Given the description of an element on the screen output the (x, y) to click on. 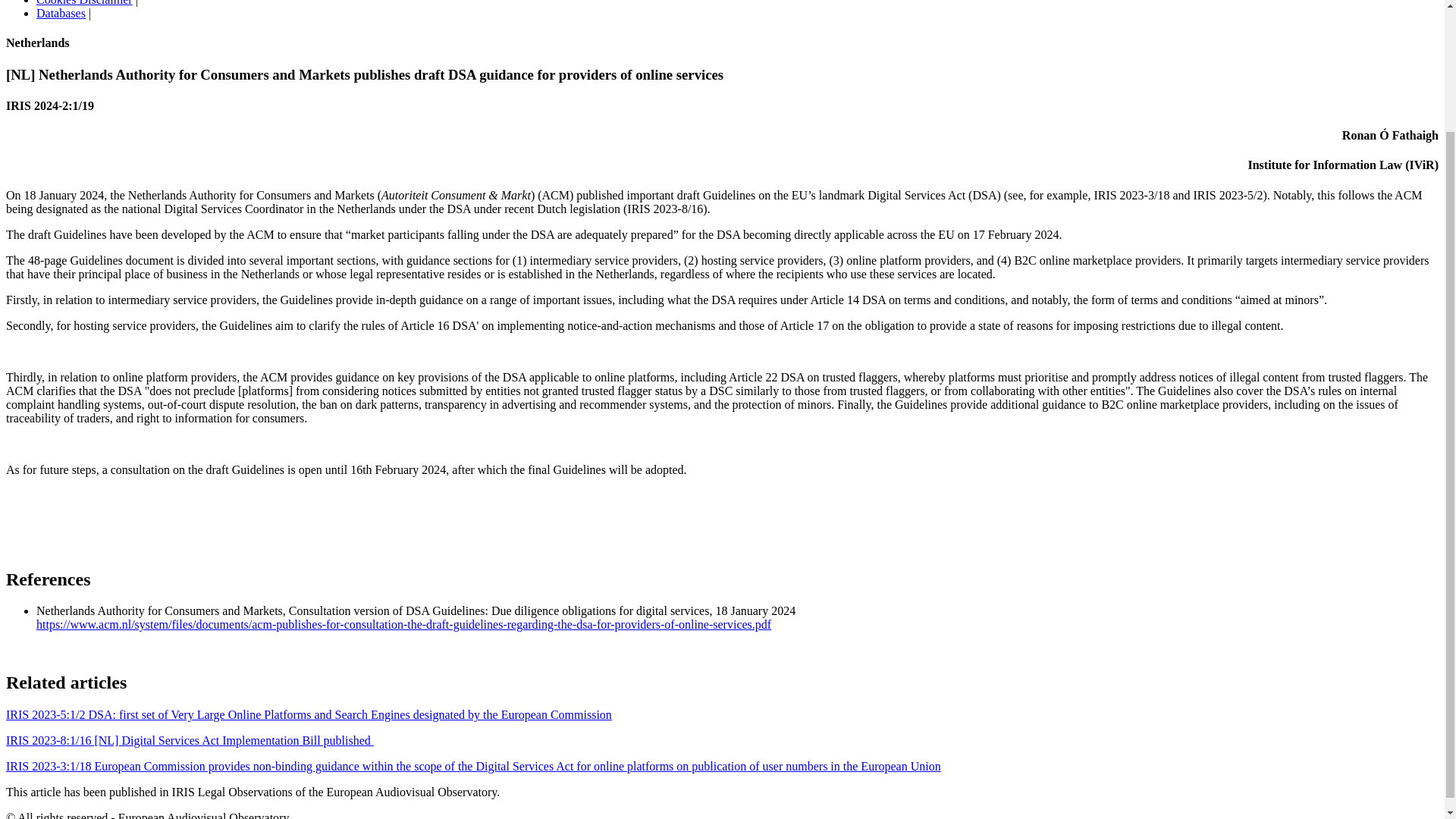
Databases (60, 12)
Cookies Disclaimer (84, 2)
